Given the description of an element on the screen output the (x, y) to click on. 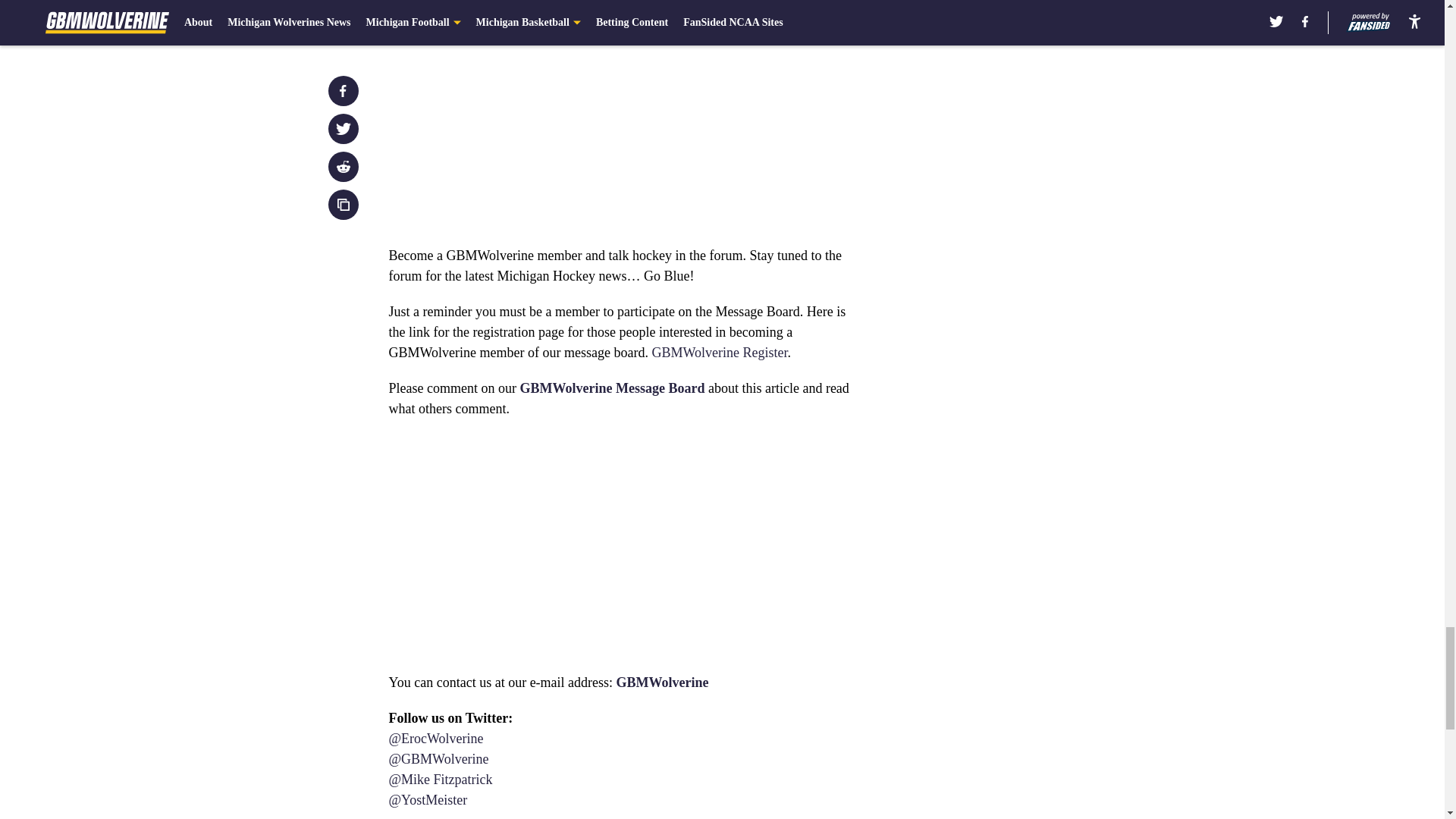
GBMWolverine (662, 682)
GBMWolverine Register (718, 352)
GBMWolverine Message Board (611, 387)
